Given the description of an element on the screen output the (x, y) to click on. 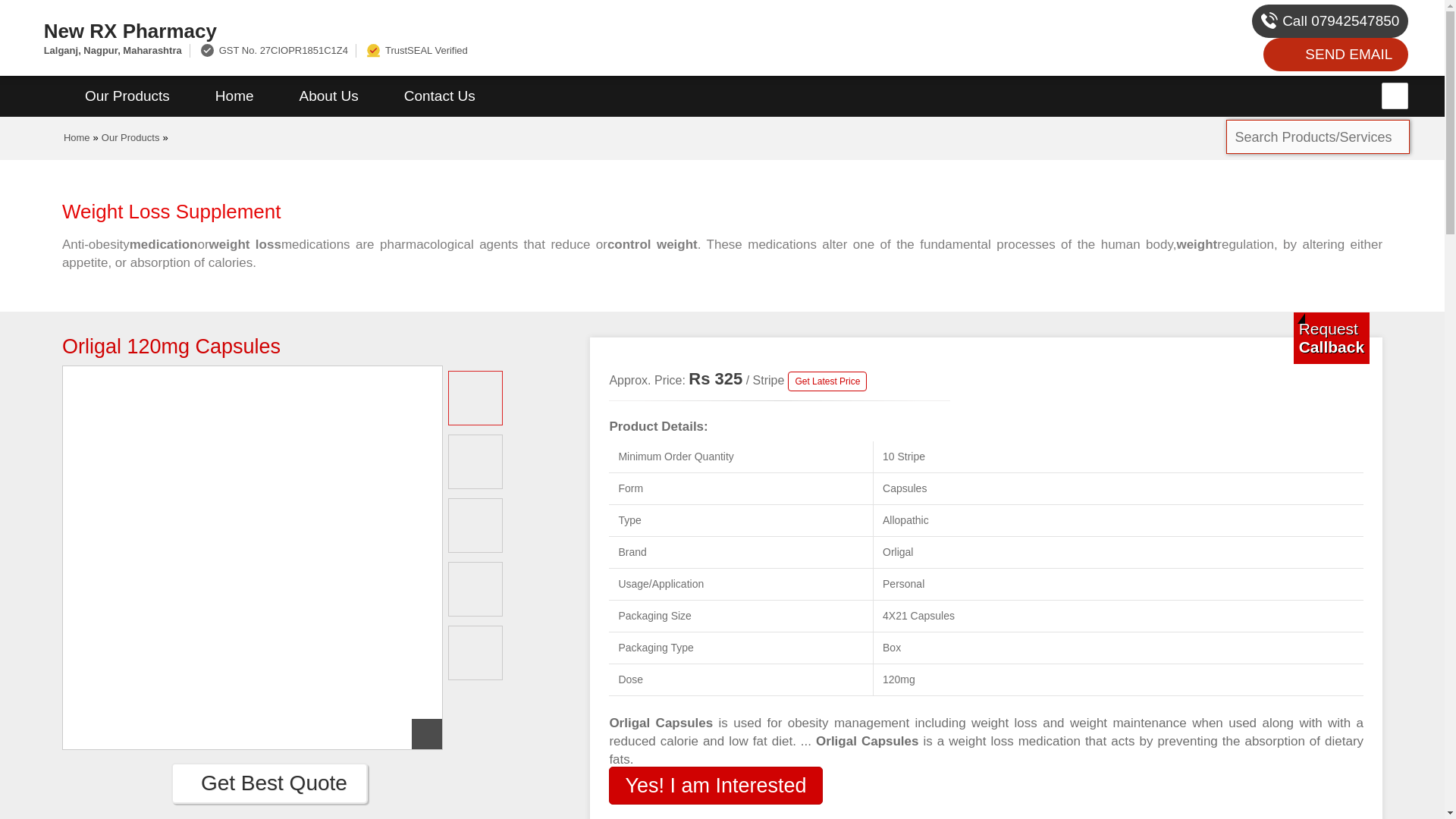
New RX Pharmacy (480, 31)
Get a Call from us (1332, 337)
Our Products (127, 96)
